Given the description of an element on the screen output the (x, y) to click on. 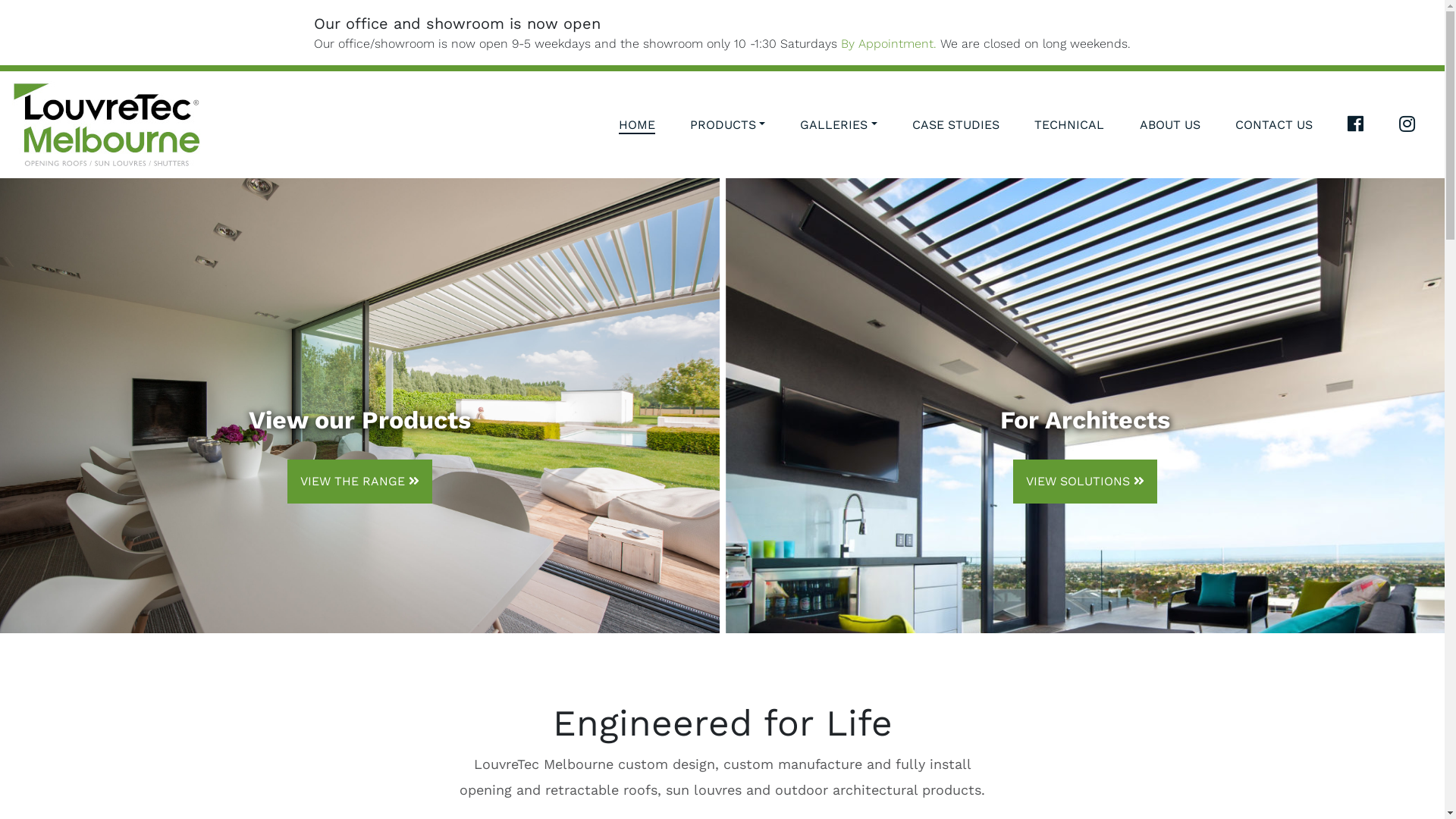
By Appointment. Element type: text (887, 43)
CASE STUDIES Element type: text (955, 124)
INSTAGRAM LOUVRETEC MELBOURNE Element type: text (1407, 124)
TECHNICAL Element type: text (1069, 124)
PRODUCTS Element type: text (727, 124)
FACEBOOK LOUVRETEC MELBOURNE Element type: text (1355, 124)
CONTACT US Element type: text (1273, 124)
For Architects
VIEW SOLUTIONS Element type: text (1084, 405)
View our Products
VIEW THE RANGE Element type: text (359, 405)
HOME Element type: text (636, 124)
GALLERIES Element type: text (837, 124)
ABOUT US Element type: text (1169, 124)
